Given the description of an element on the screen output the (x, y) to click on. 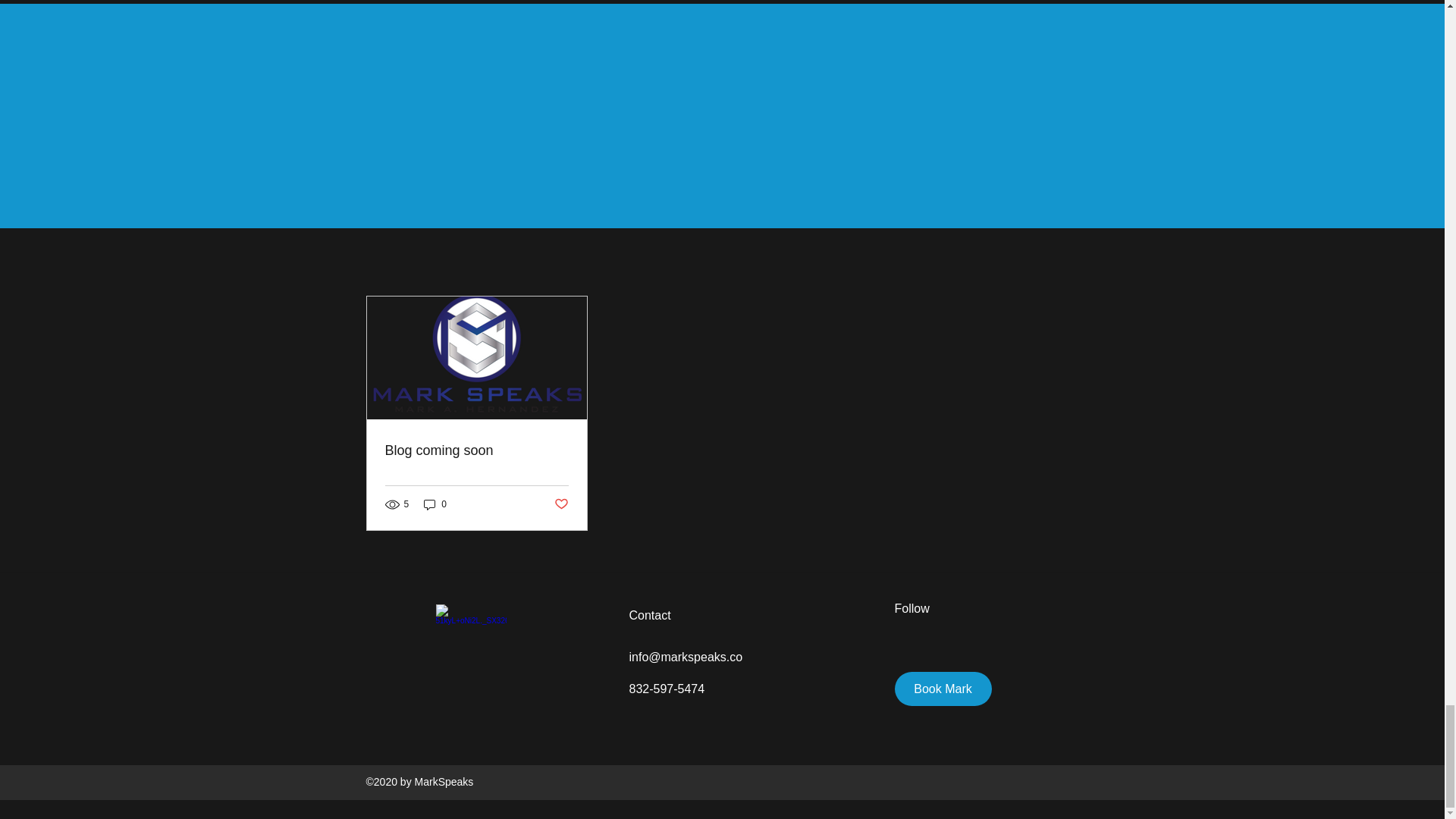
Blog coming soon (477, 450)
Book Mark (943, 688)
Post not marked as liked (560, 504)
0 (435, 504)
